Given the description of an element on the screen output the (x, y) to click on. 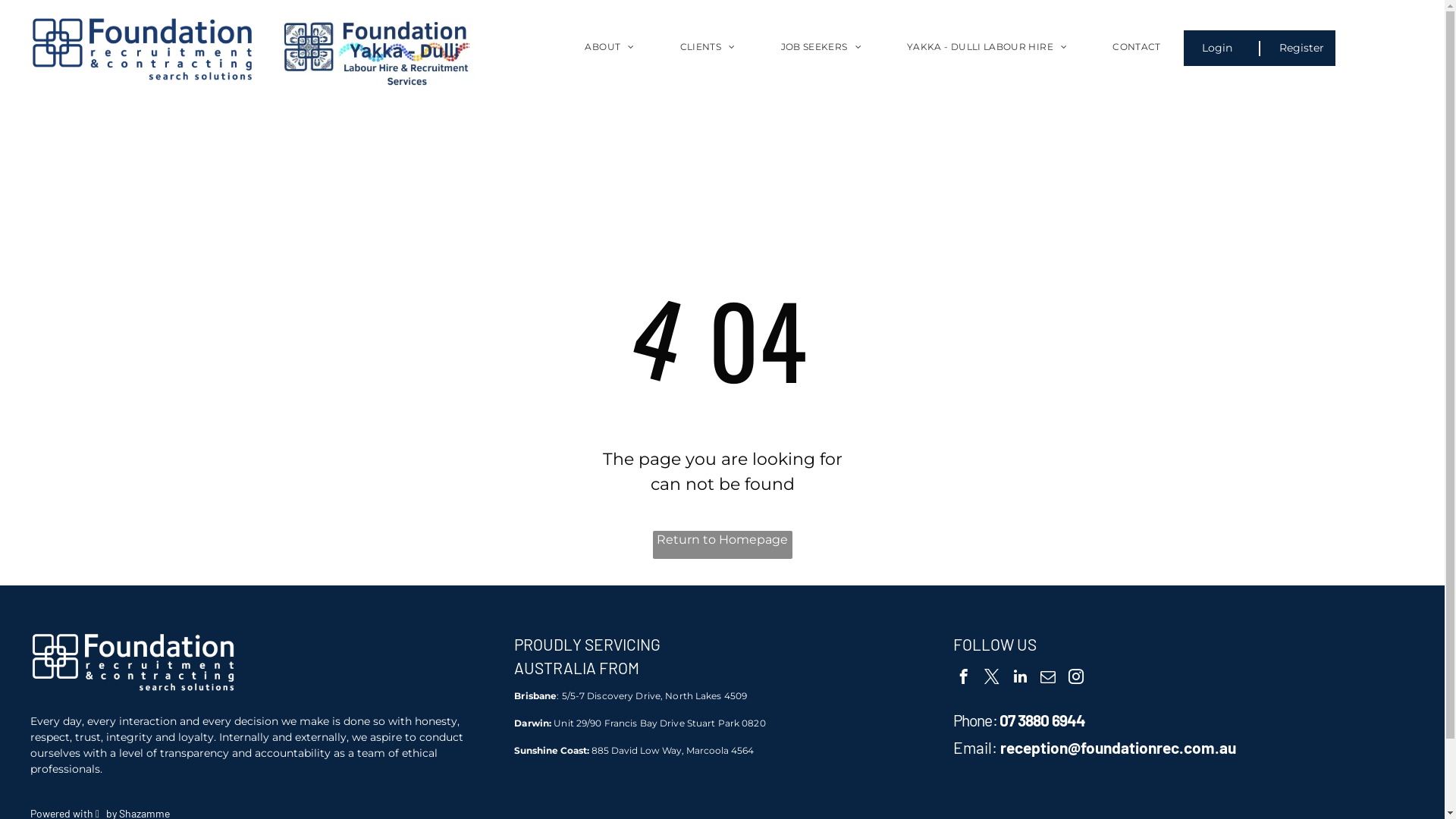
JOB SEEKERS Element type: text (821, 57)
ABOUT Element type: text (608, 57)
Return to Homepage Element type: text (721, 544)
Login Element type: text (1217, 47)
reception@foundationrec.com.au Element type: text (1118, 746)
CLIENTS Element type: text (707, 57)
CONTACT Element type: text (1136, 57)
07 3880 6944 Element type: text (1042, 719)
Register Element type: text (1301, 47)
YAKKA - DULLI LABOUR HIRE Element type: text (986, 57)
